Given the description of an element on the screen output the (x, y) to click on. 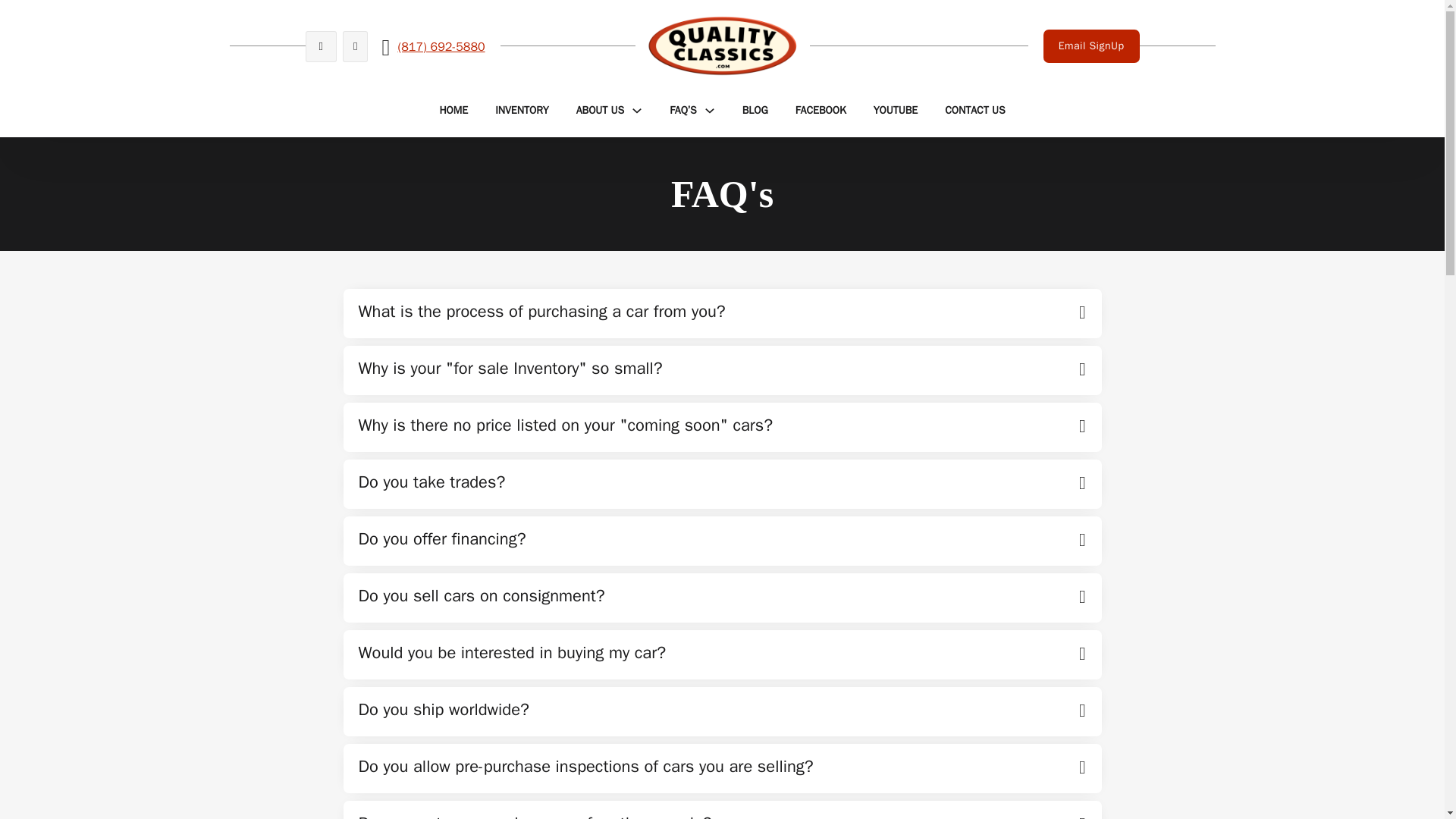
FACEBOOK (819, 110)
ABOUT US (600, 110)
CONTACT US (974, 110)
Email SignUp (1091, 46)
INVENTORY (521, 110)
